Given the description of an element on the screen output the (x, y) to click on. 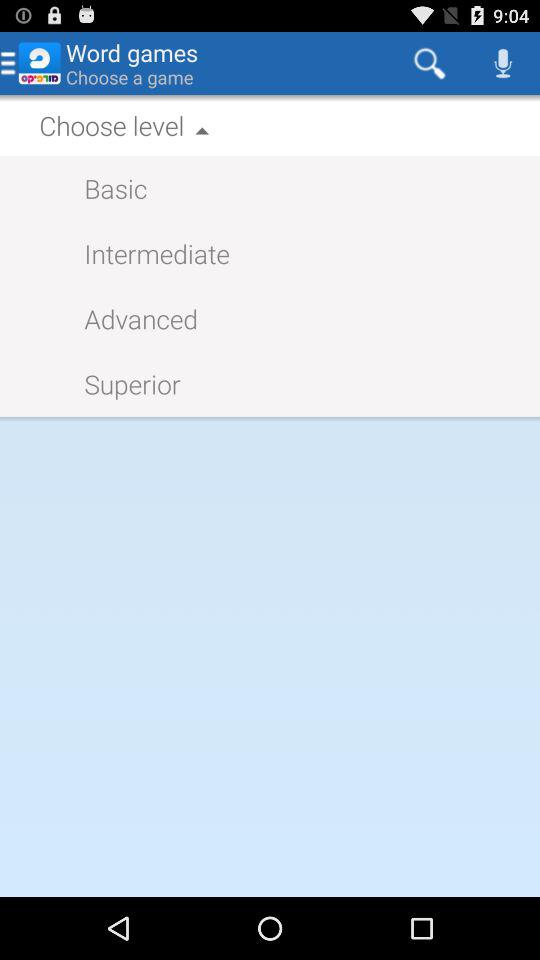
turn on icon next to word games (429, 62)
